Given the description of an element on the screen output the (x, y) to click on. 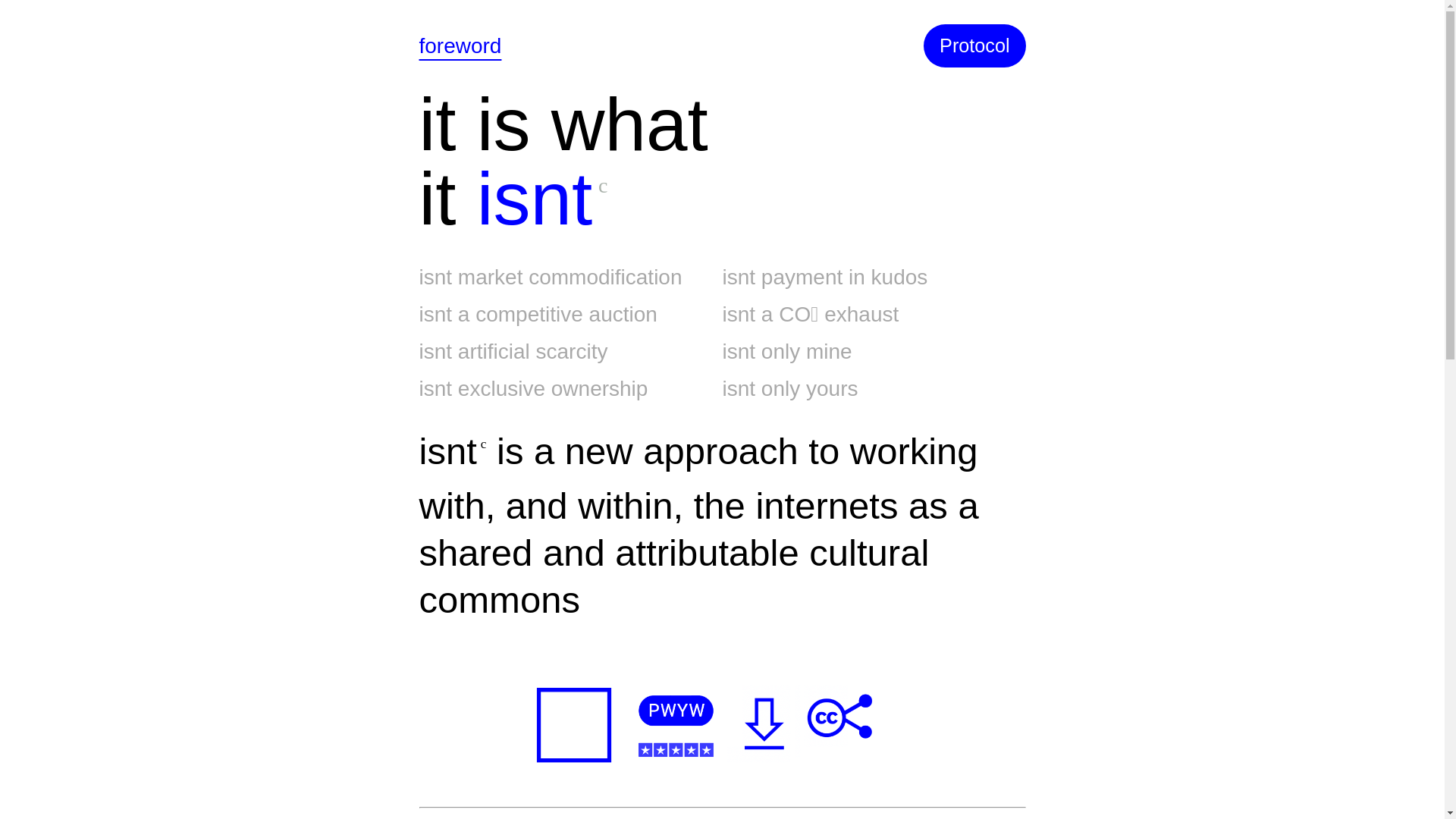
 Protocol  Element type: text (974, 45)
foreword Element type: text (459, 45)
